Given the description of an element on the screen output the (x, y) to click on. 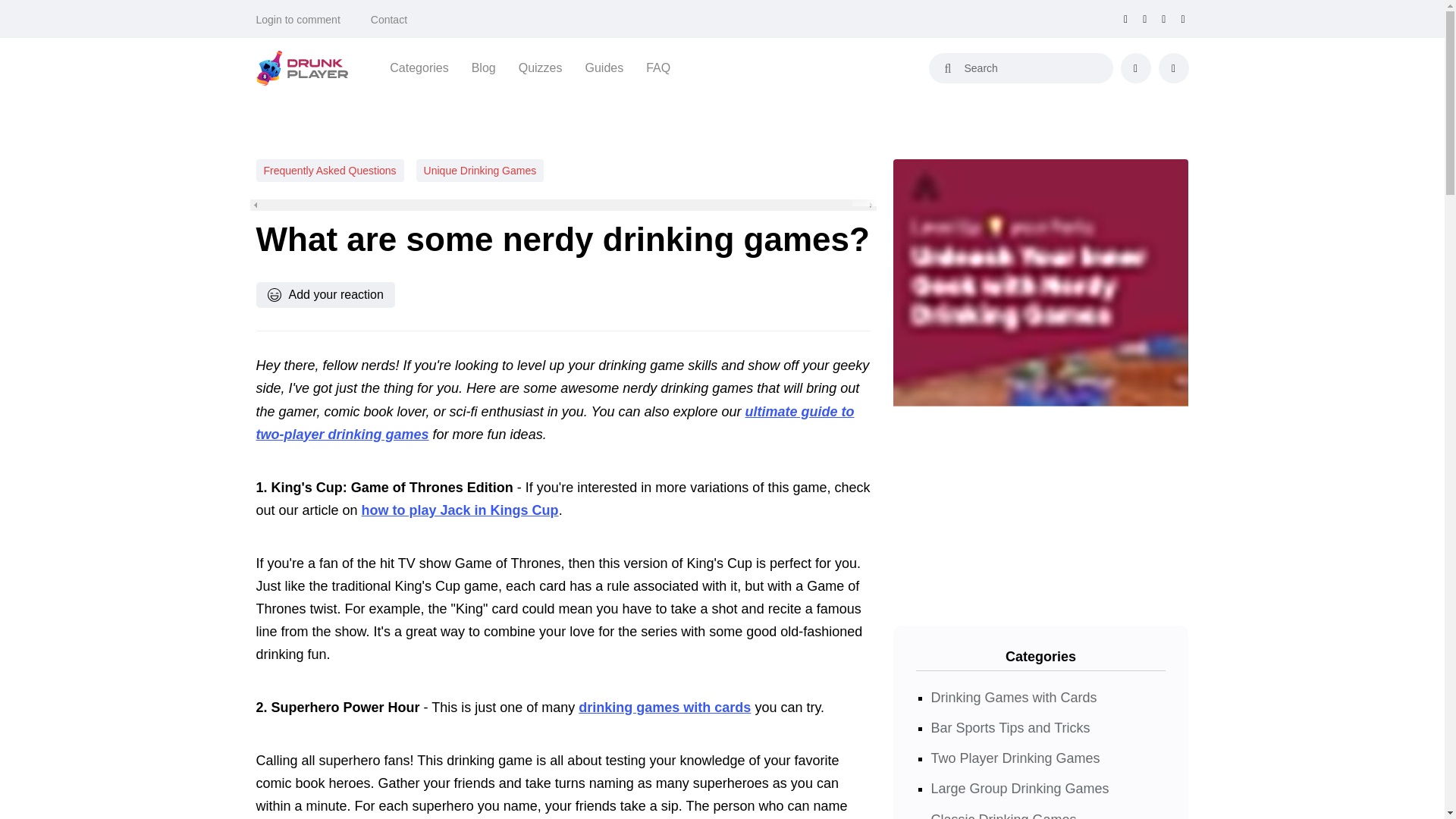
Contact (389, 19)
Login to comment (298, 19)
Categories (419, 67)
